Given the description of an element on the screen output the (x, y) to click on. 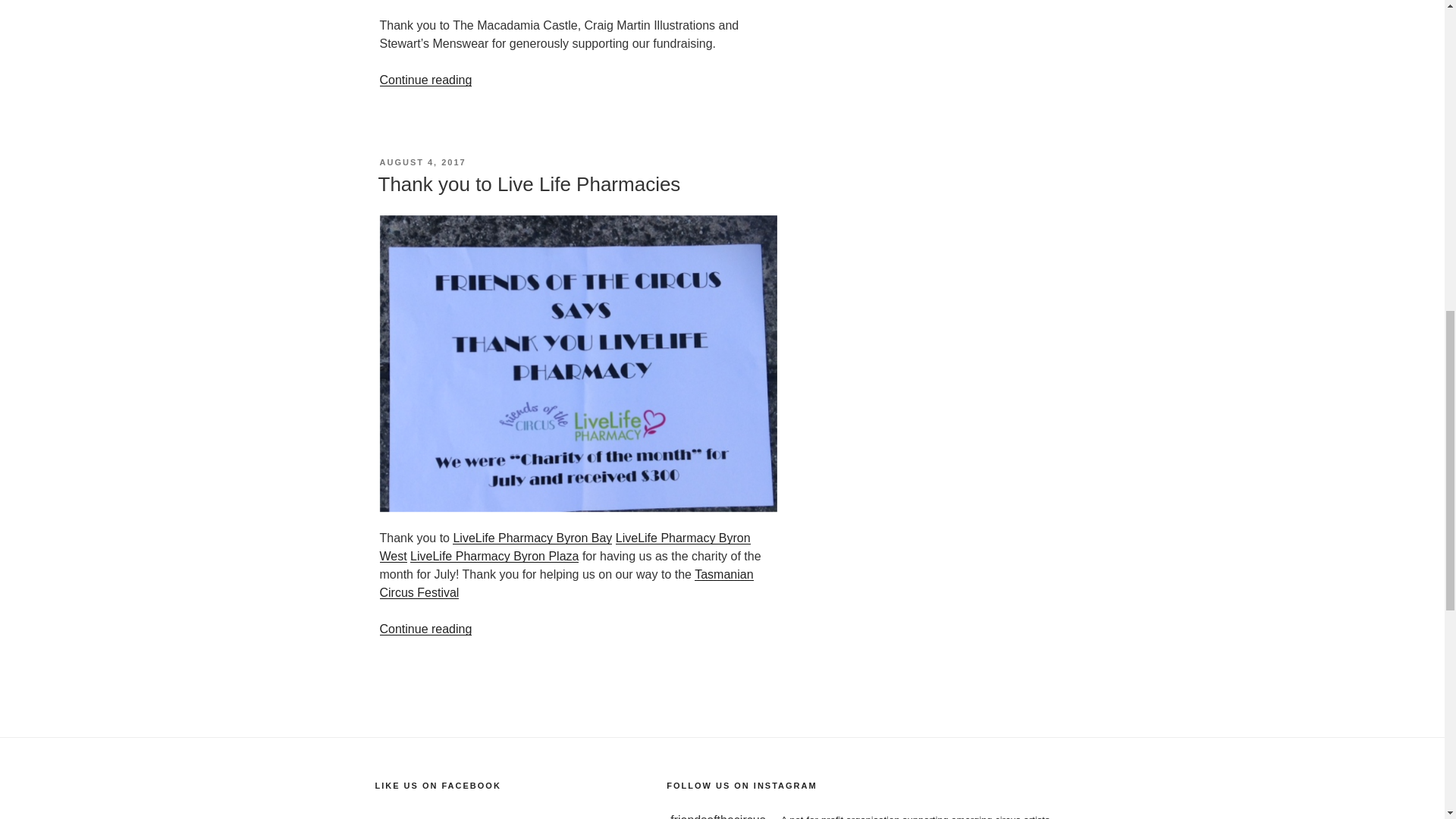
LiveLife Pharmacy Byron West (563, 546)
Thank you to Live Life Pharmacies (528, 183)
LiveLife Pharmacy Byron Plaza (494, 555)
AUGUST 4, 2017 (421, 162)
Tasmanian Circus Festival (565, 583)
LiveLife Pharmacy Byron Bay (531, 537)
